Given the description of an element on the screen output the (x, y) to click on. 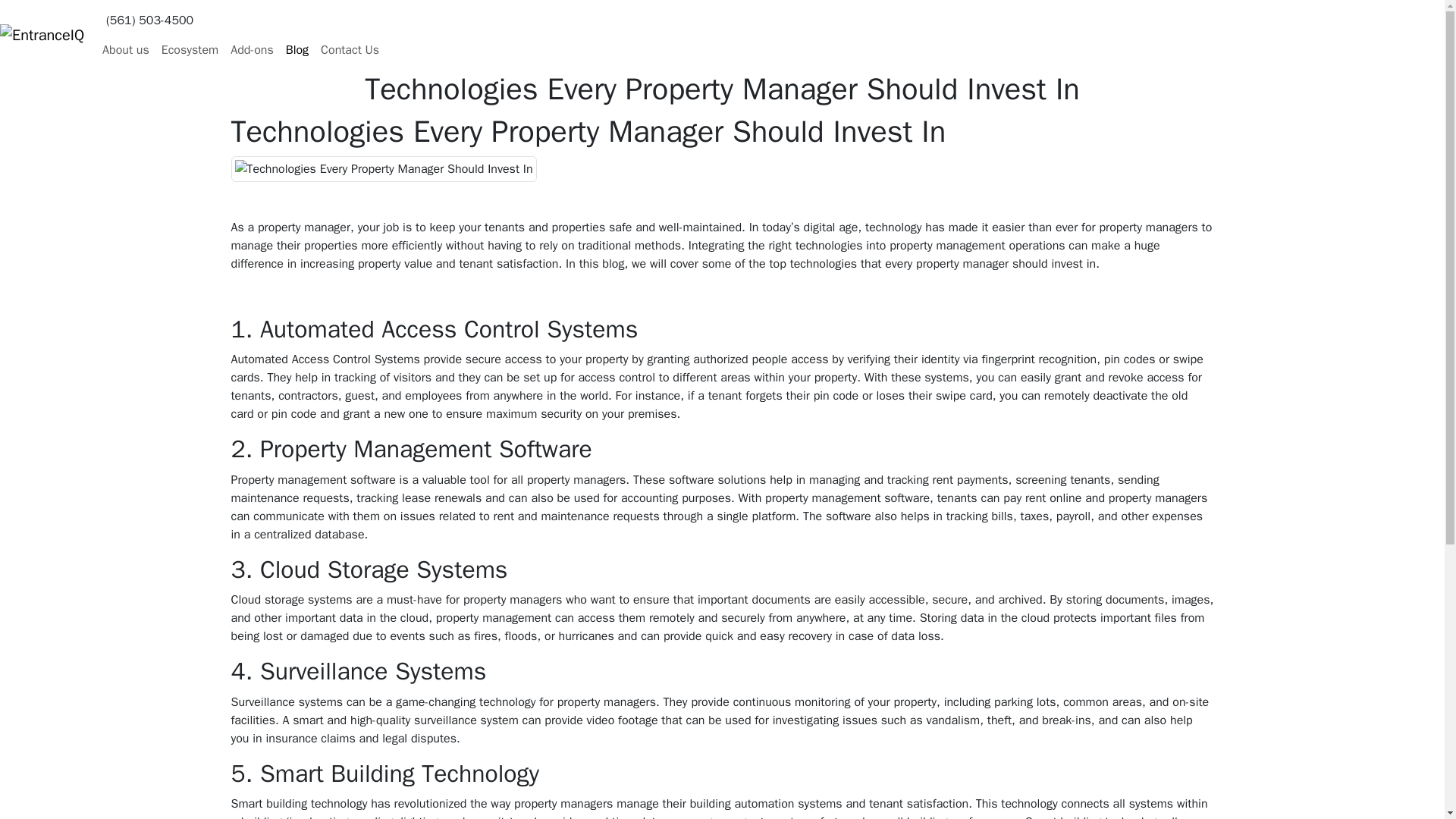
Blog (296, 50)
About us (125, 50)
Add-ons (251, 50)
About us (125, 50)
Contact Us (349, 50)
Blog (296, 50)
Ecosystem (189, 50)
Add-ons (251, 50)
Contact Us (349, 50)
Ecosystem (189, 50)
